Given the description of an element on the screen output the (x, y) to click on. 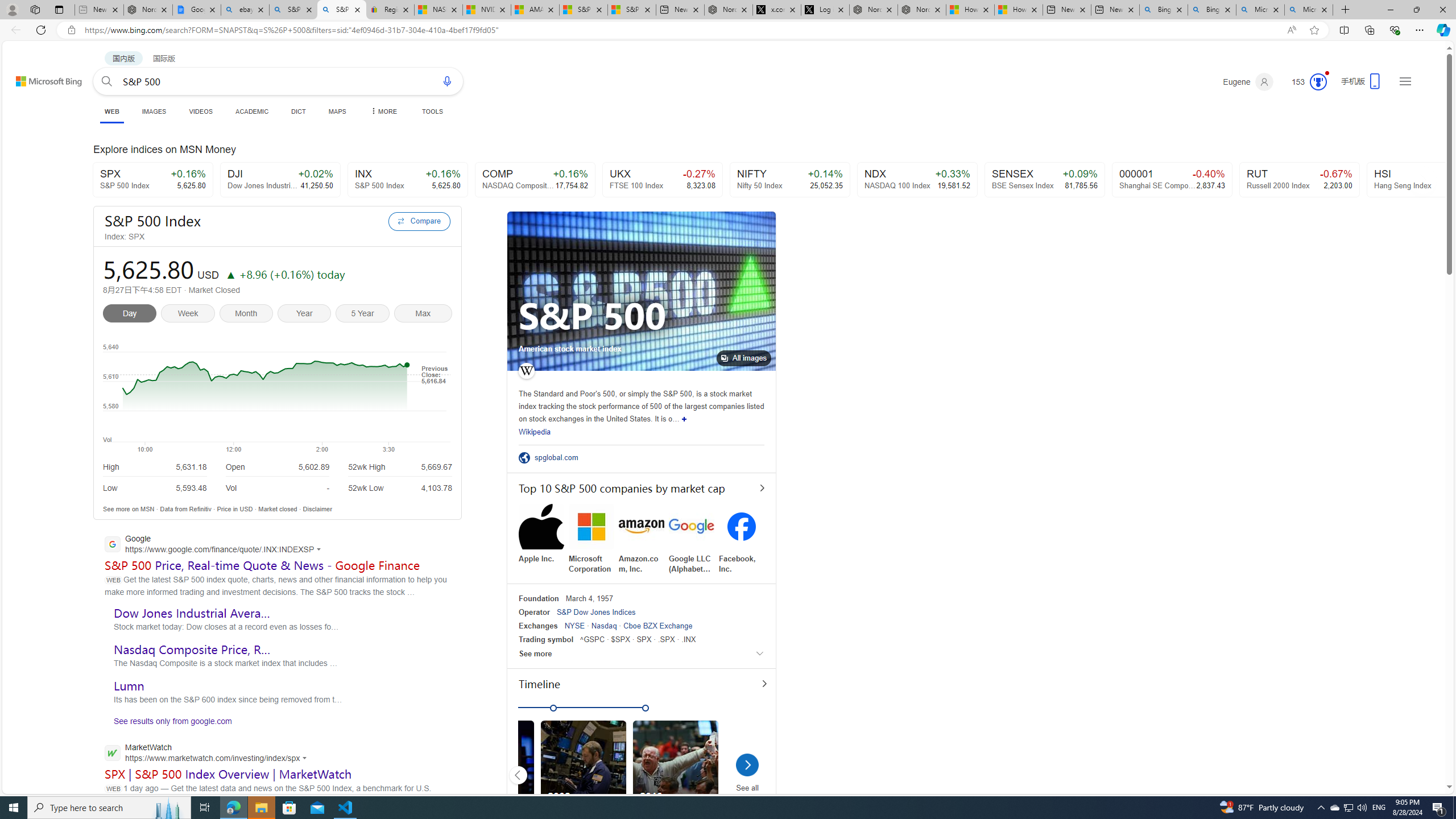
WEB (111, 111)
Cboe BZX Exchange (658, 625)
Search using voice (446, 80)
MAPS (336, 111)
DICT (298, 111)
See all (746, 767)
S&P 500 - Search (342, 9)
Exchanges (537, 625)
SENSEX +0.09% BSE Sensex Index 81,785.56 (1045, 179)
Lumn (128, 685)
Year (306, 314)
